Given the description of an element on the screen output the (x, y) to click on. 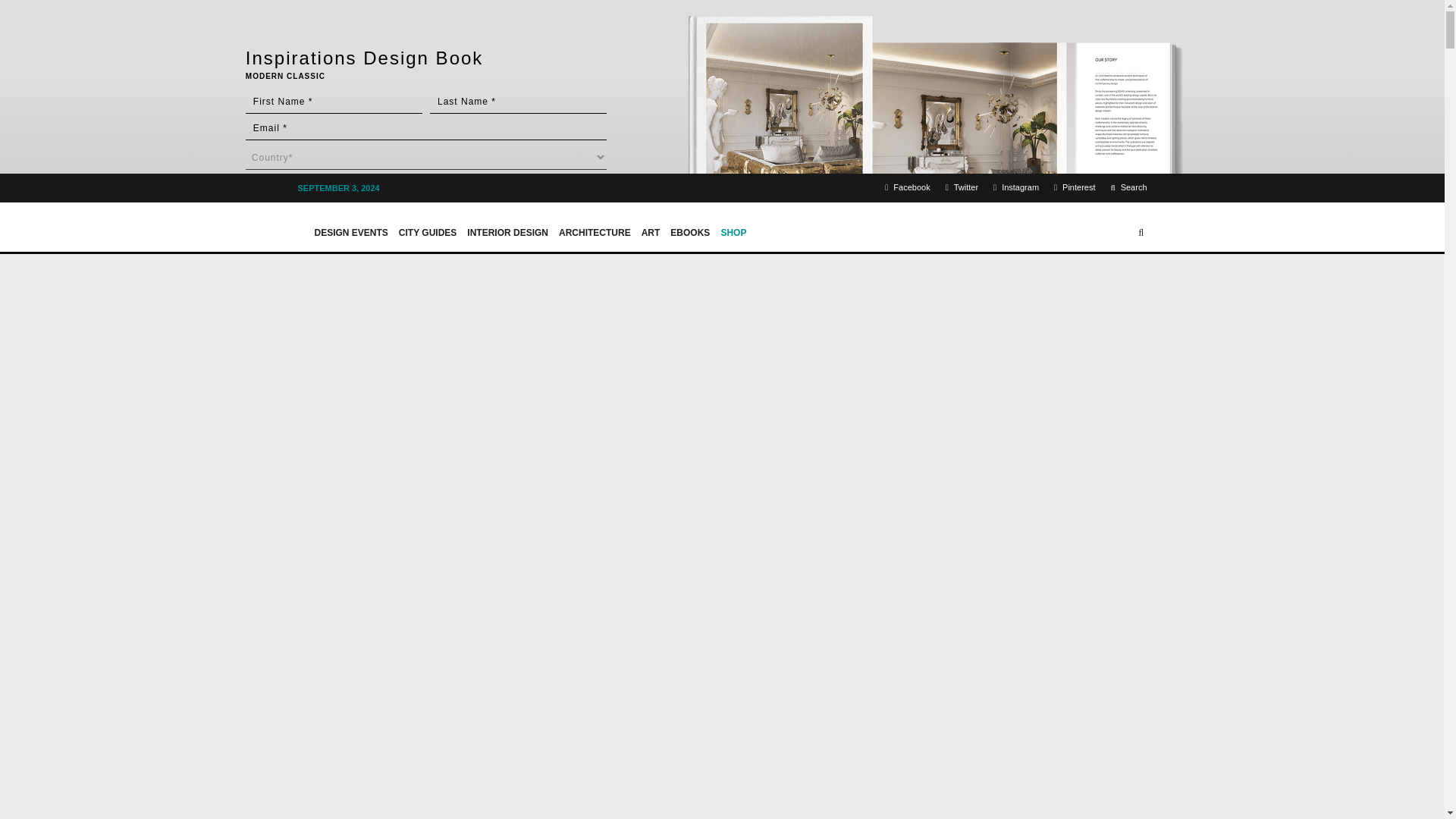
Facebook (907, 187)
DOWNLOAD NOW (310, 215)
Instagram (1015, 187)
DOWNLOAD NOW (310, 215)
Search (1128, 187)
Twitter (961, 187)
Pinterest (1074, 187)
DESIGN EVENTS (350, 226)
